Given the description of an element on the screen output the (x, y) to click on. 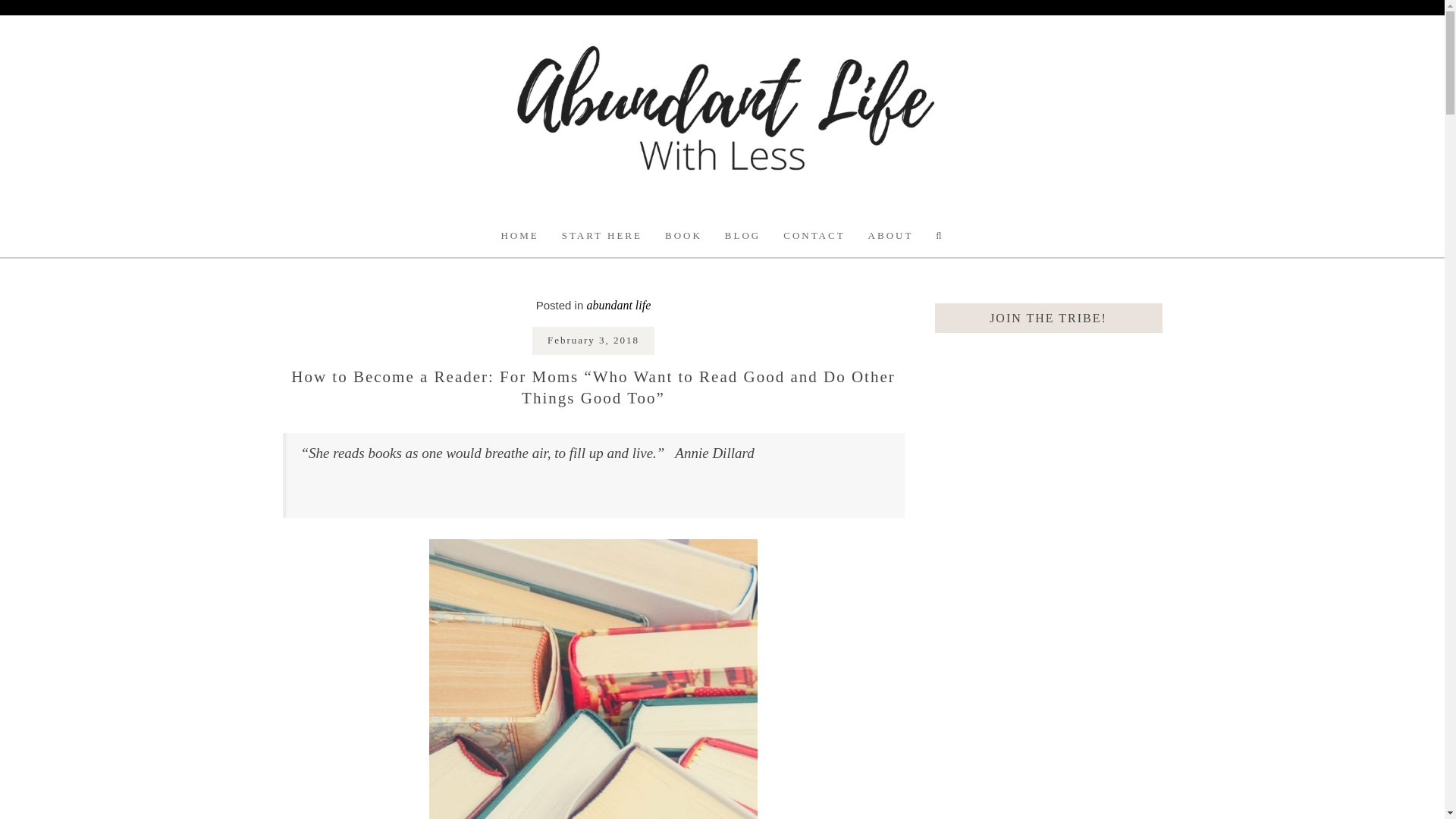
HOME (519, 235)
BOOK (683, 235)
START HERE (601, 235)
CONTACT (813, 235)
BLOG (742, 235)
February 3, 2018 (593, 339)
abundant life (618, 305)
ABOUT (890, 235)
